Given the description of an element on the screen output the (x, y) to click on. 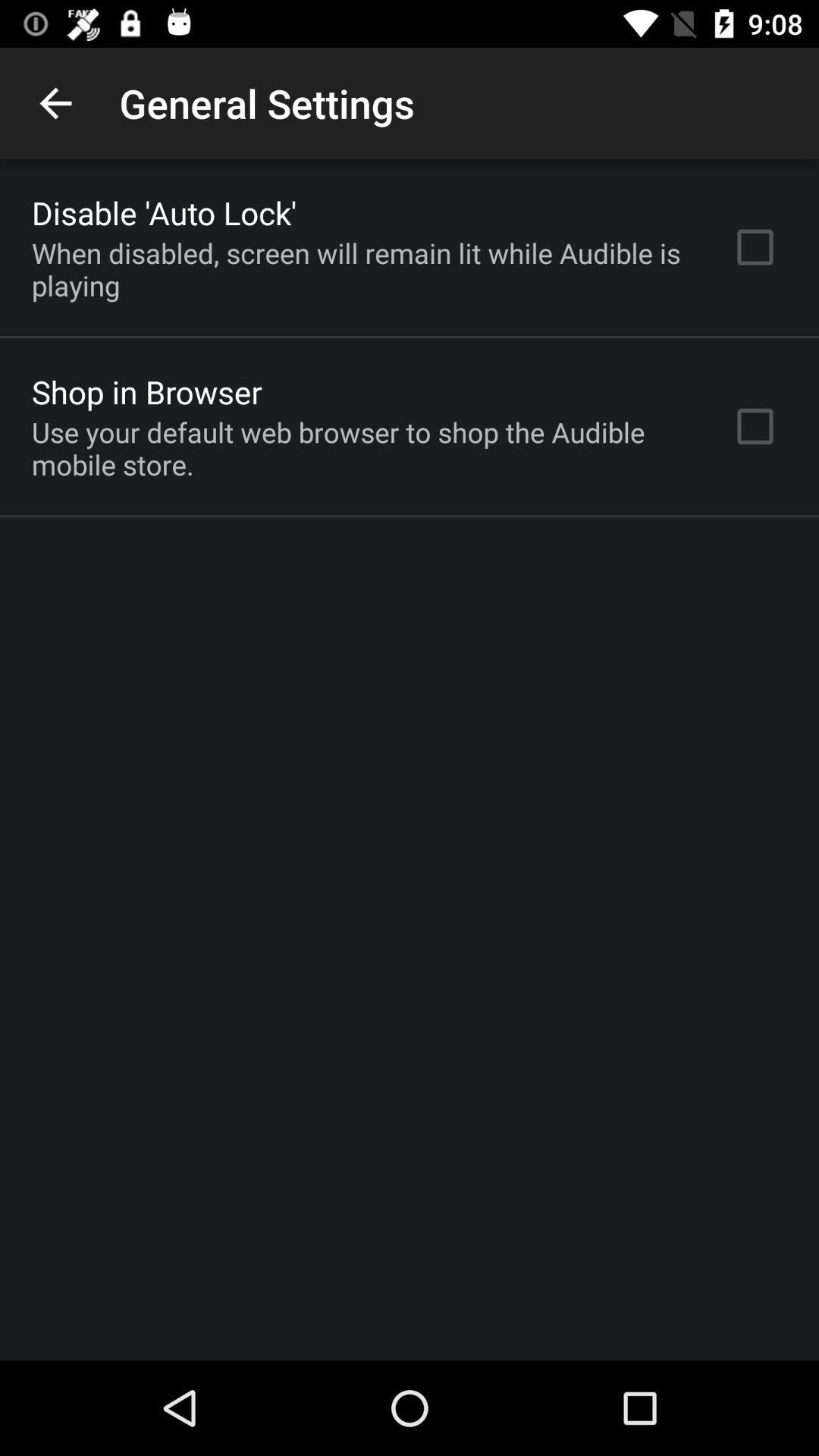
turn on the icon above shop in browser item (361, 269)
